Given the description of an element on the screen output the (x, y) to click on. 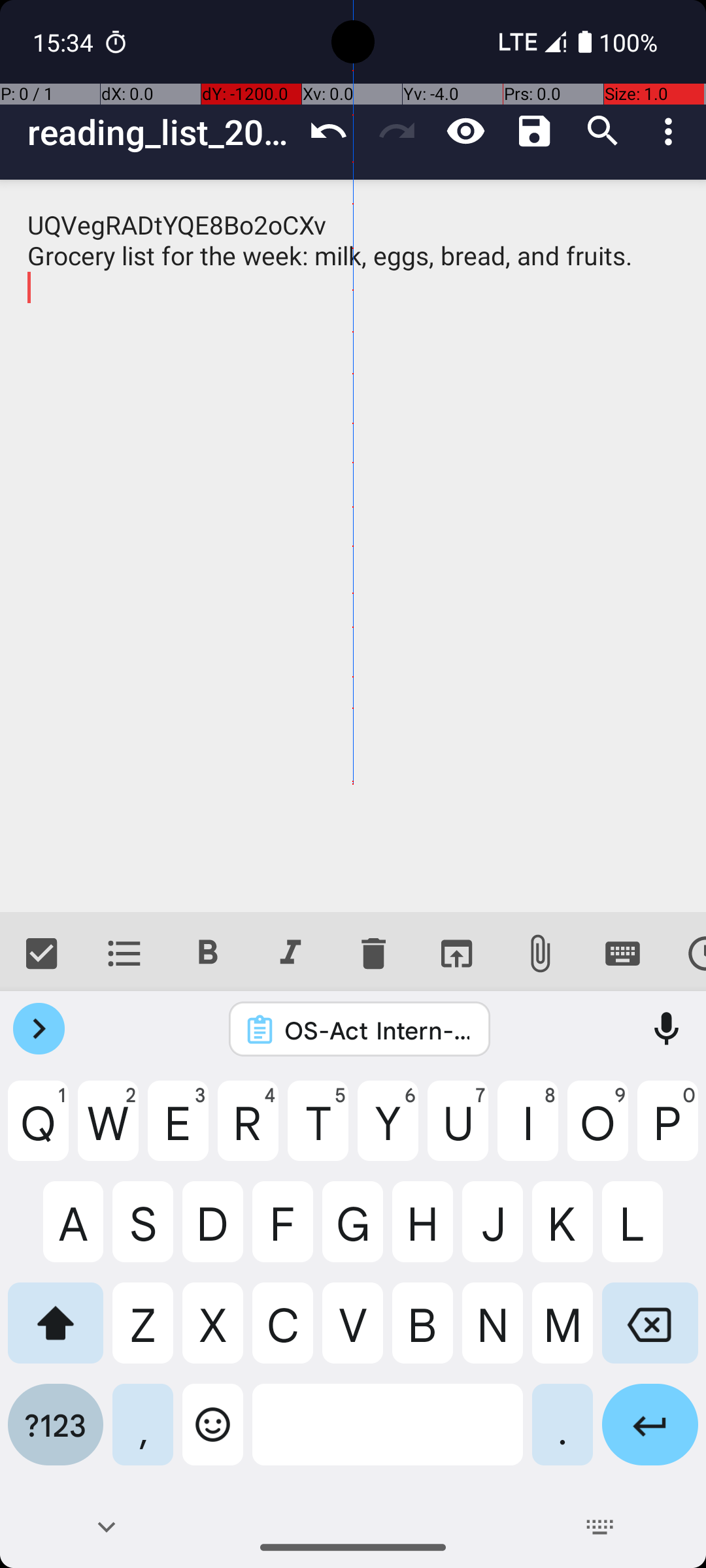
reading_list_2024_copy Element type: android.widget.TextView (160, 131)
UQVegRADtYQE8Bo2oCXv
Grocery list for the week: milk, eggs, bread, and fruits.
 Element type: android.widget.EditText (353, 545)
OS-Act	Intern-VL2-4B	✅	240913-3 (240906-2的from base对照组) OS-Act	Intern-VL2-4B	✅	240913-4 OS-Act	Intern-VL2-4B	✅	240914-1 Element type: android.widget.TextView (376, 1029)
